Given the description of an element on the screen output the (x, y) to click on. 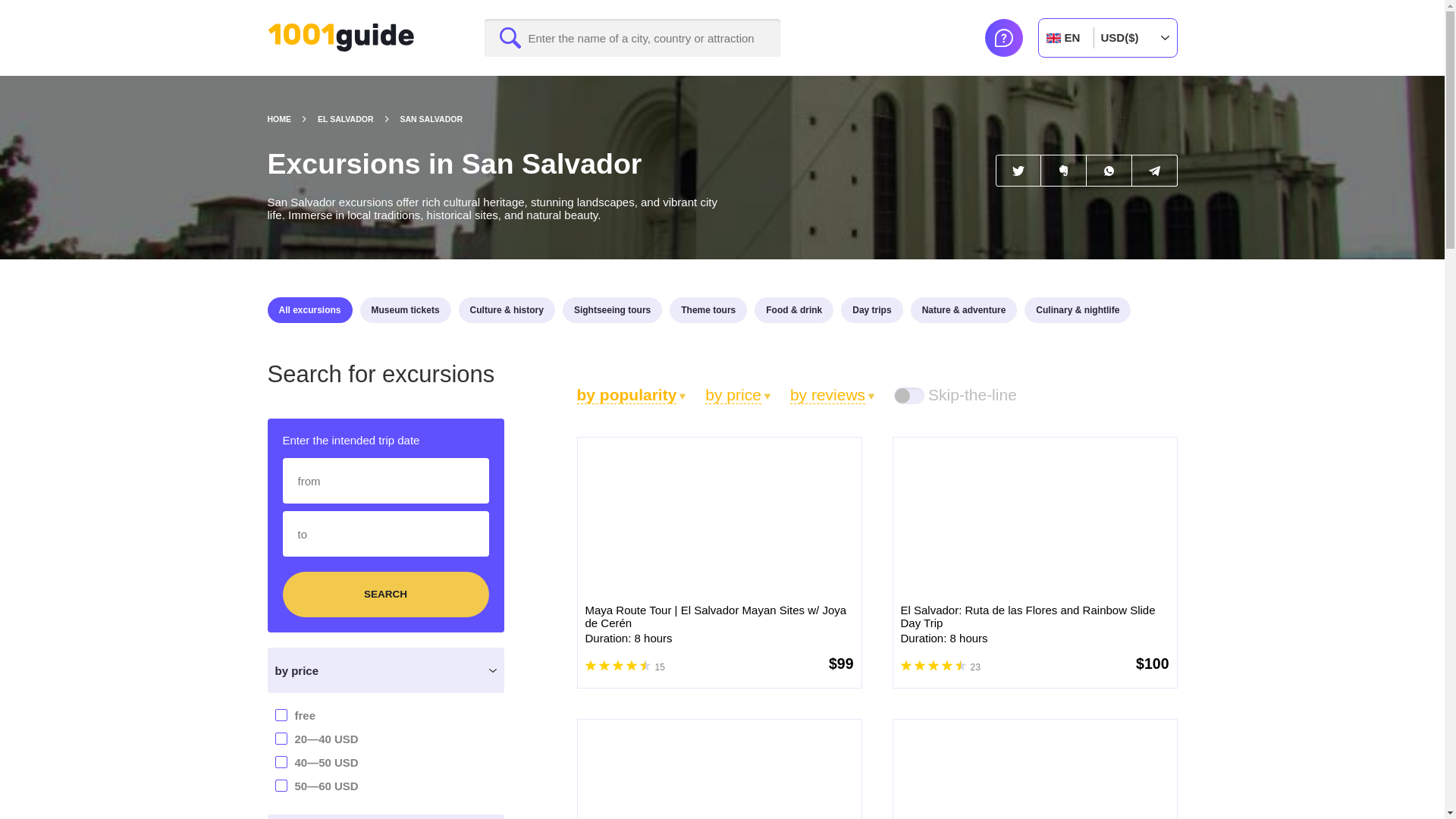
Day trips (871, 309)
50,60 (204, 784)
Twitter (1017, 170)
1001guide.com (340, 37)
EL SALVADOR (358, 118)
Theme tours (707, 309)
by price (737, 394)
SEARCH (384, 594)
Help center (1003, 37)
by popularity (630, 394)
